Given the description of an element on the screen output the (x, y) to click on. 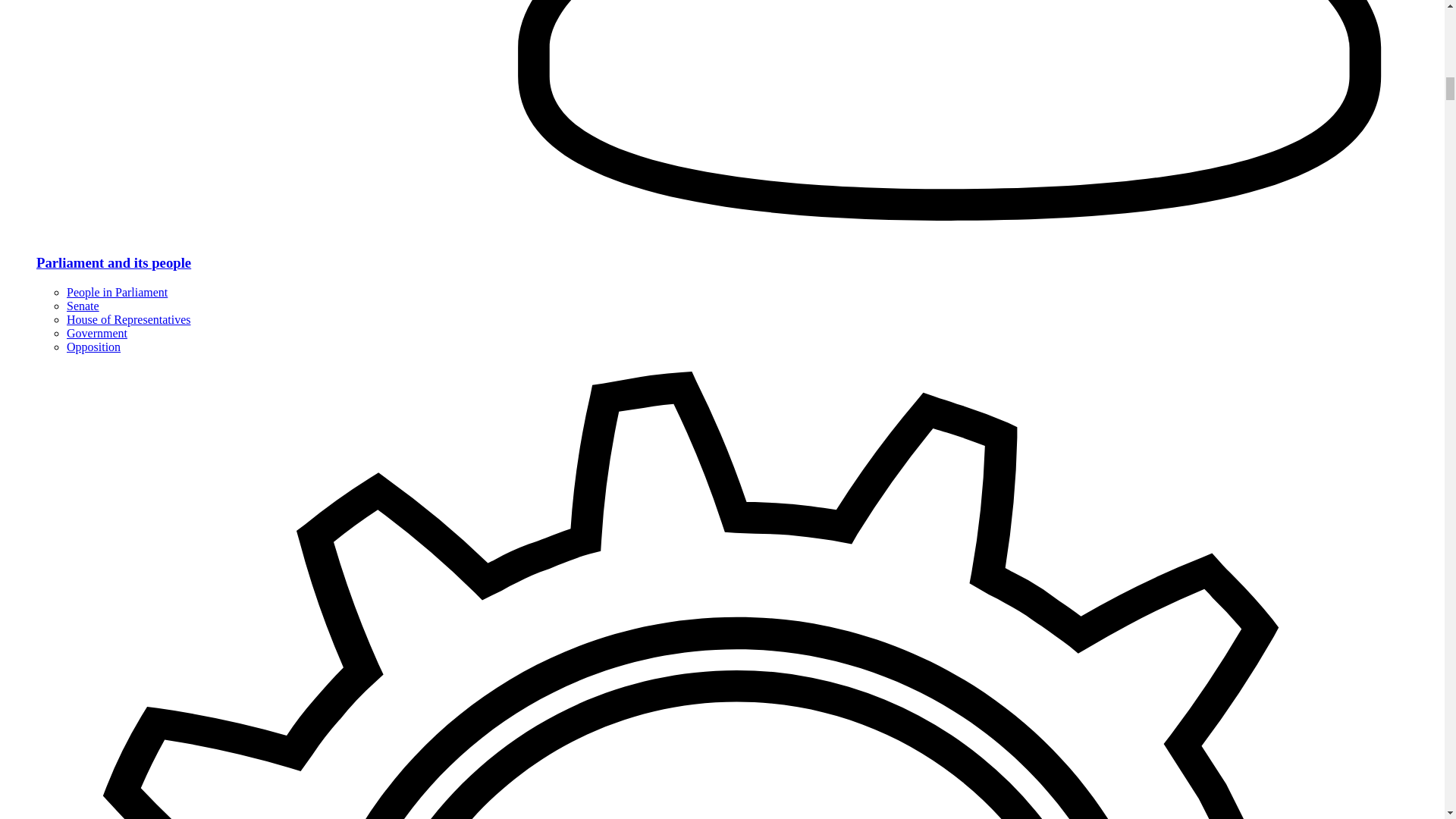
Government (97, 332)
People in Parliament (116, 291)
Senate (82, 305)
House of Representatives (128, 318)
Opposition (93, 346)
